Given the description of an element on the screen output the (x, y) to click on. 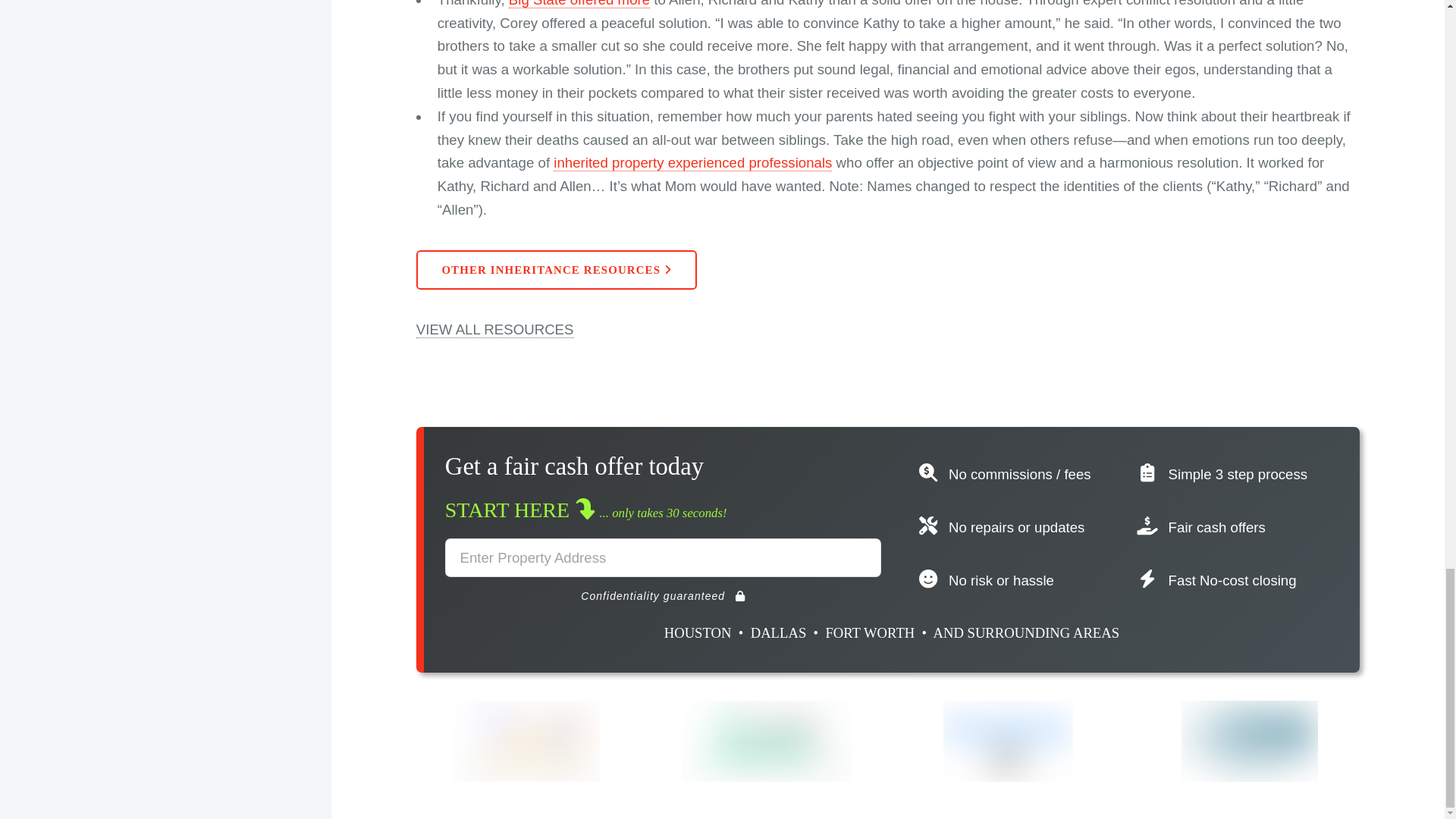
Big State offered more (578, 4)
OTHER INHERITANCE RESOURCES (556, 269)
VIEW ALL RESOURCES (494, 329)
inherited property experienced professionals (692, 162)
